Given the description of an element on the screen output the (x, y) to click on. 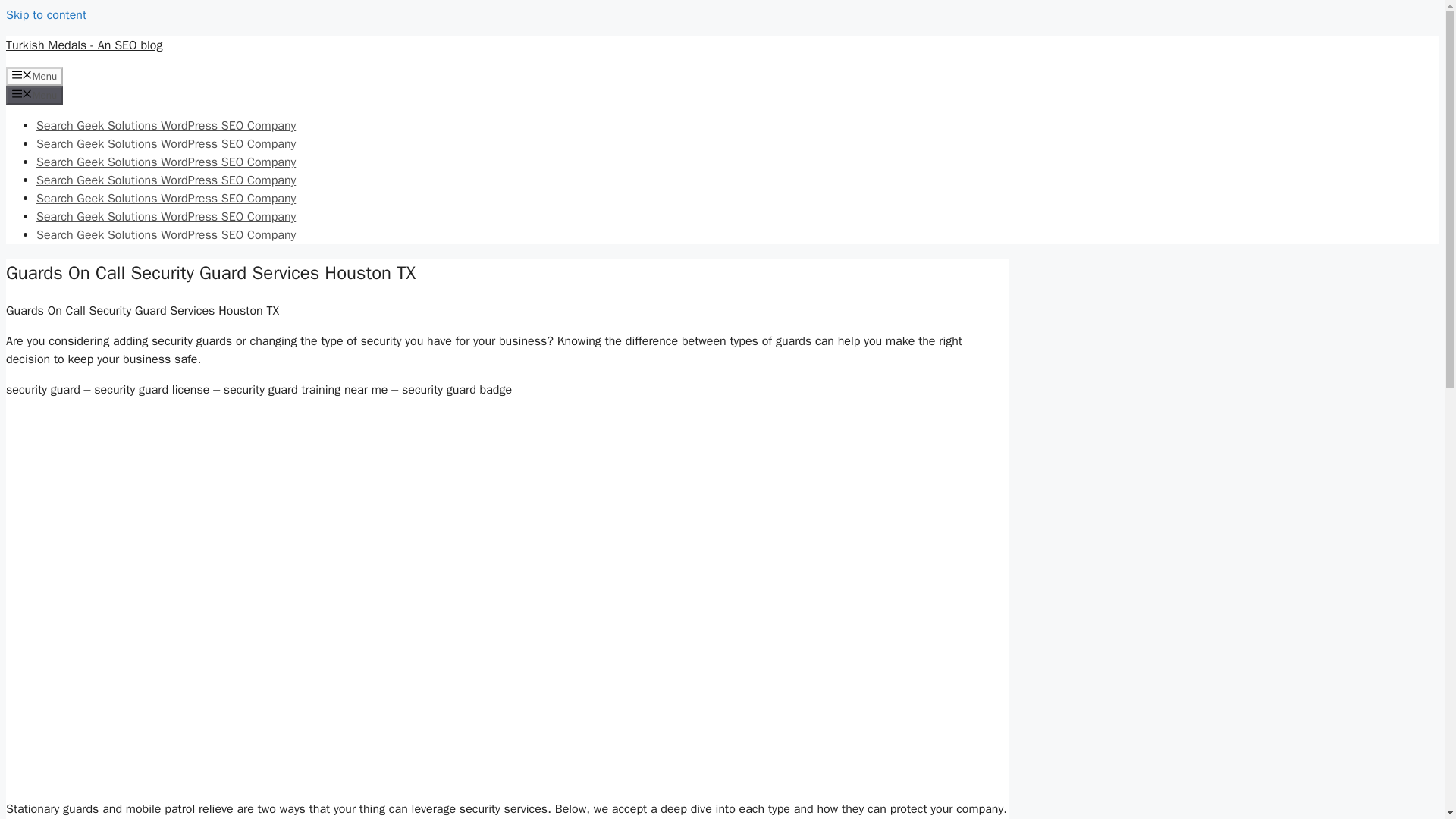
Search Geek Solutions WordPress SEO Company (165, 161)
Skip to content (45, 14)
Search Geek Solutions WordPress SEO Company (165, 125)
Search Geek Solutions WordPress SEO Company (165, 198)
Turkish Medals - An SEO blog (83, 45)
Search Geek Solutions WordPress SEO Company (165, 234)
Skip to content (45, 14)
Search Geek Solutions WordPress SEO Company (165, 143)
Search Geek Solutions WordPress SEO Company (165, 216)
Menu (33, 95)
Search Geek Solutions WordPress SEO Company (165, 180)
Menu (33, 76)
